Given the description of an element on the screen output the (x, y) to click on. 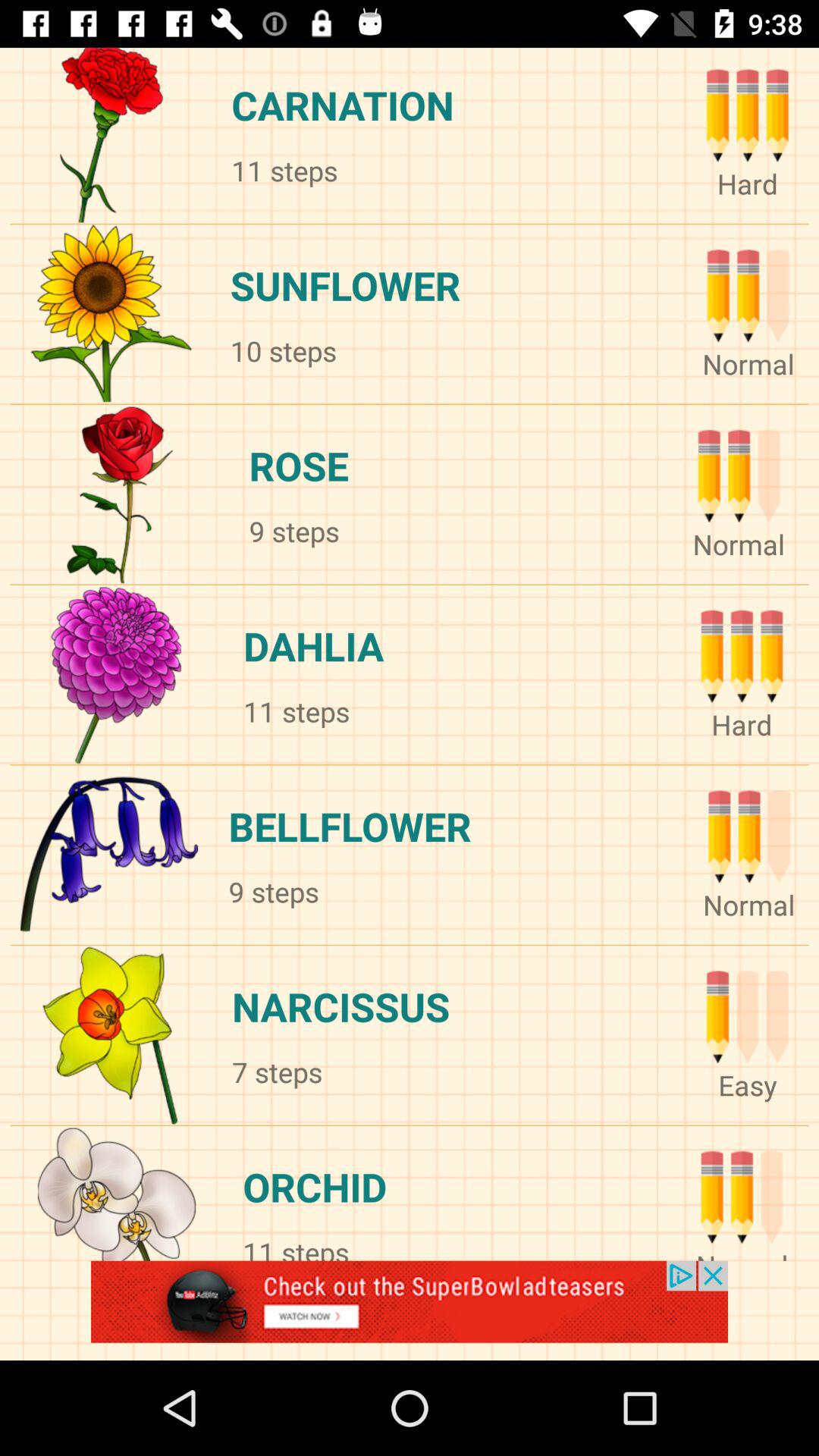
advert (409, 1310)
